Given the description of an element on the screen output the (x, y) to click on. 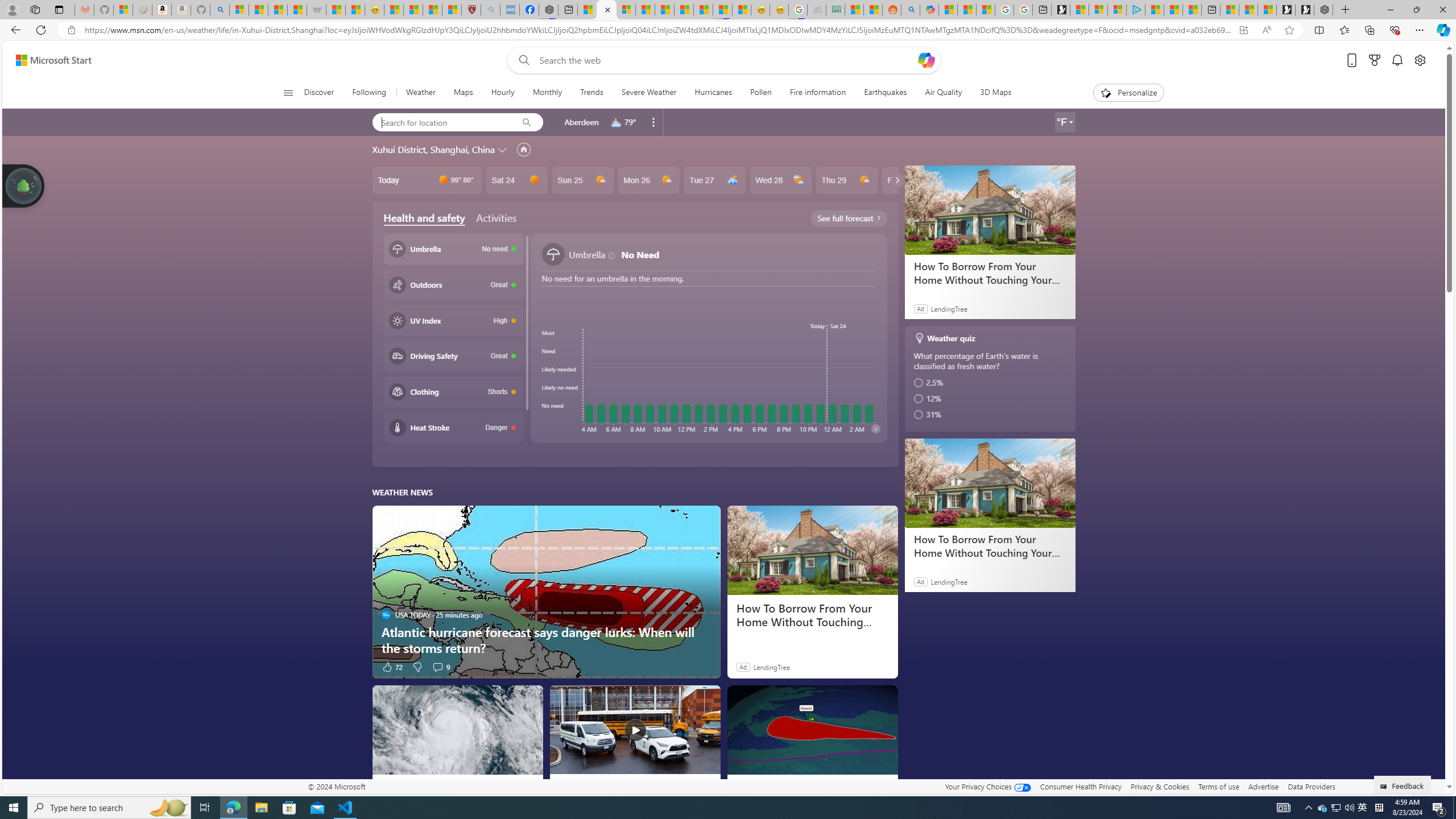
Your Privacy Choices (987, 786)
Class: lifeBarCoverdLink-DS-EntryPoint1-1 (634, 334)
3D Maps (991, 92)
72 Like (392, 666)
AccuWeather (563, 785)
Data Providers (1311, 786)
